Given the description of an element on the screen output the (x, y) to click on. 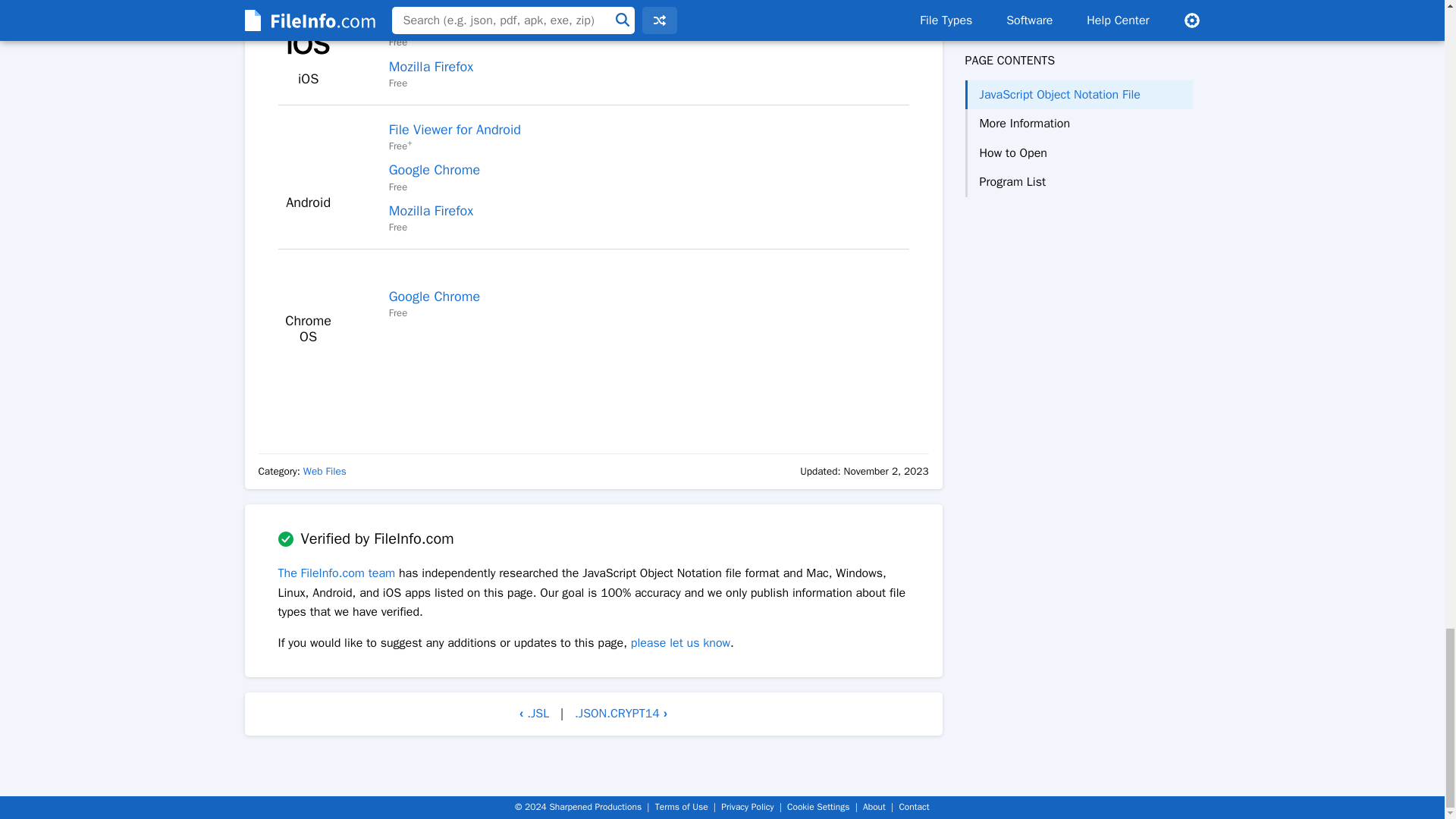
3rd party ad content (592, 394)
